Given the description of an element on the screen output the (x, y) to click on. 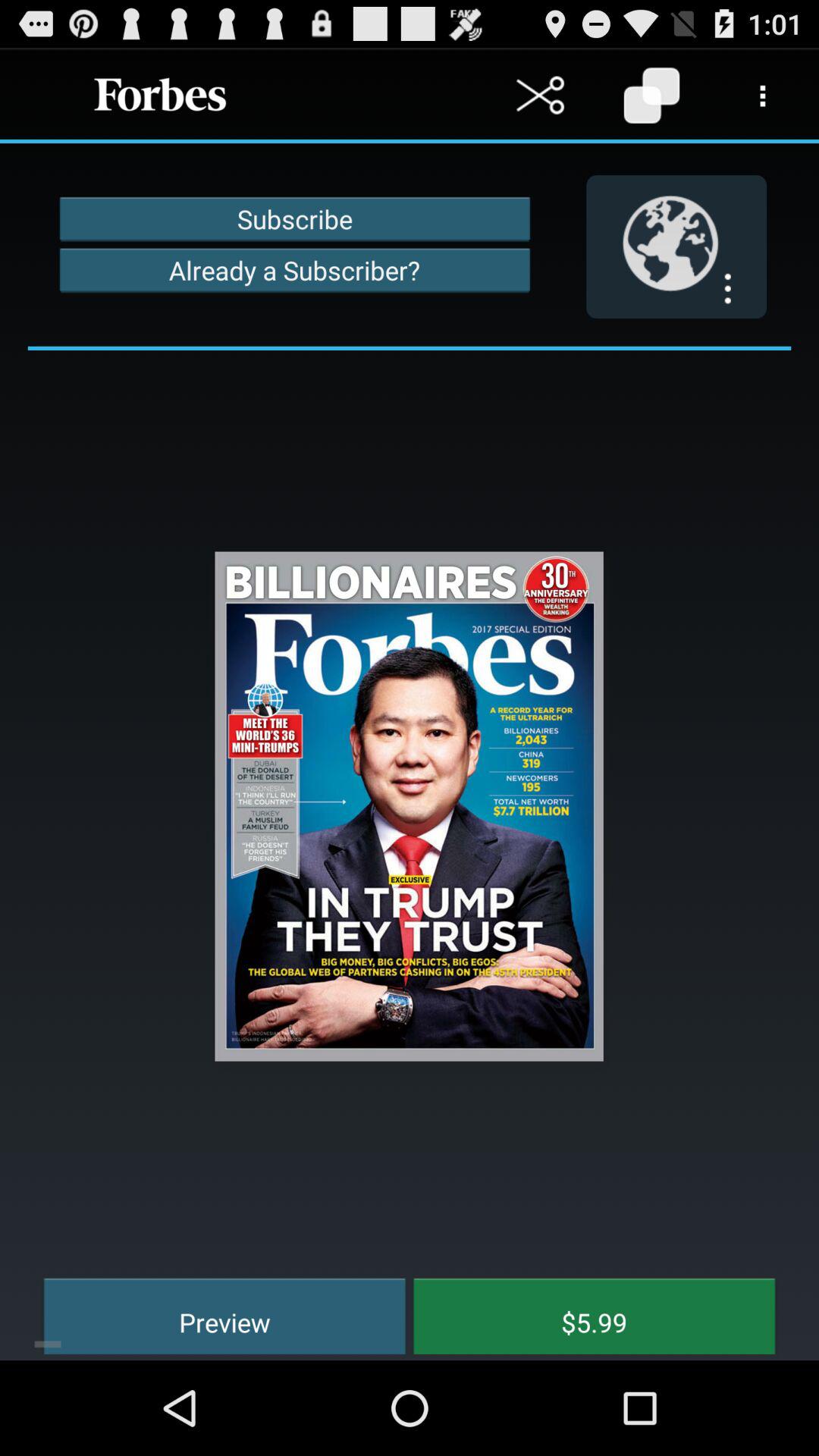
copy (651, 95)
